Given the description of an element on the screen output the (x, y) to click on. 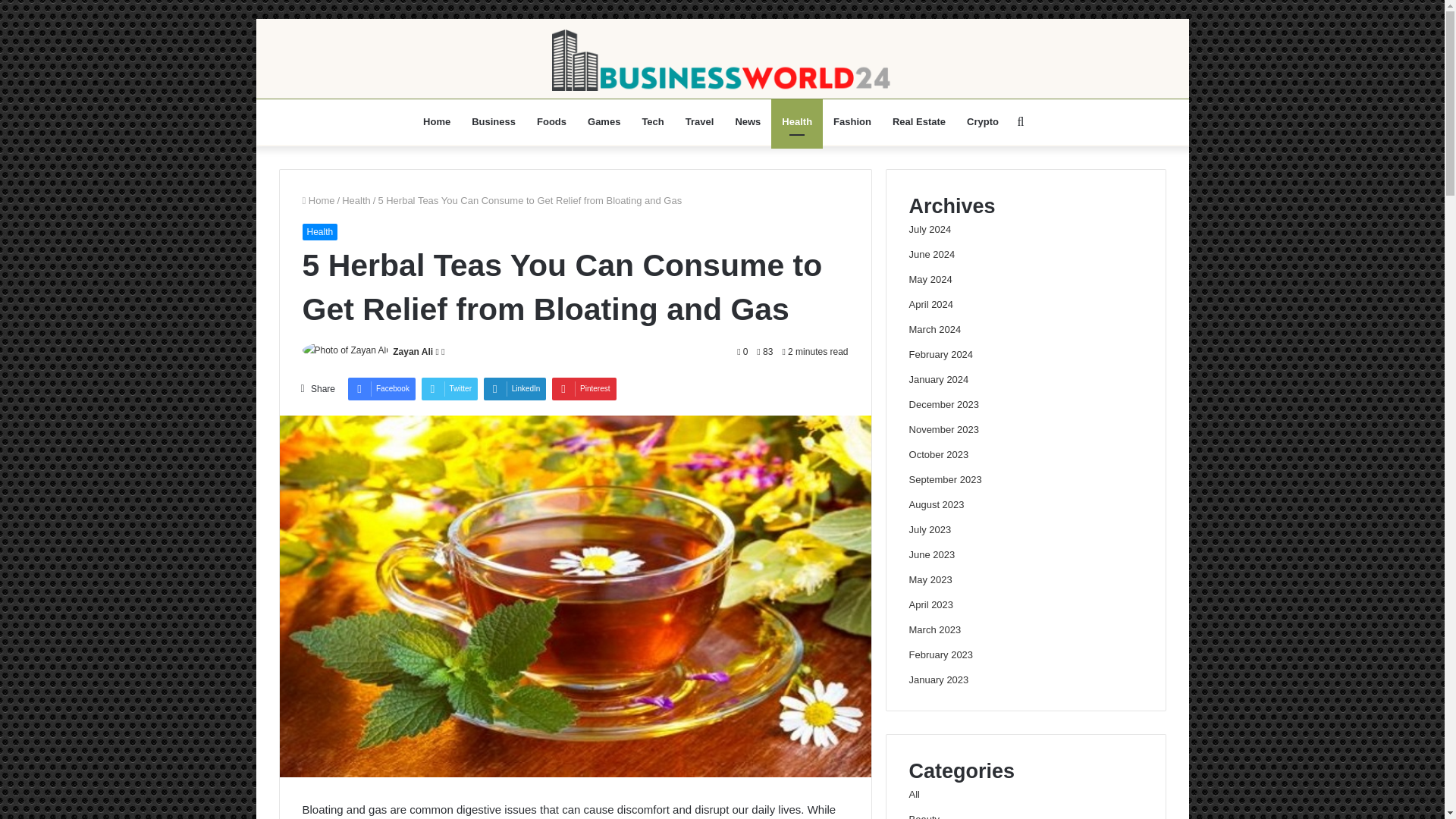
Tech (652, 121)
Health (356, 200)
Twitter (449, 388)
Home (317, 200)
Zayan Ali (412, 351)
Business (493, 121)
Twitter (449, 388)
Facebook (380, 388)
Games (603, 121)
Pinterest (583, 388)
News (747, 121)
Home (436, 121)
Pinterest (583, 388)
Travel (700, 121)
Health (319, 231)
